Given the description of an element on the screen output the (x, y) to click on. 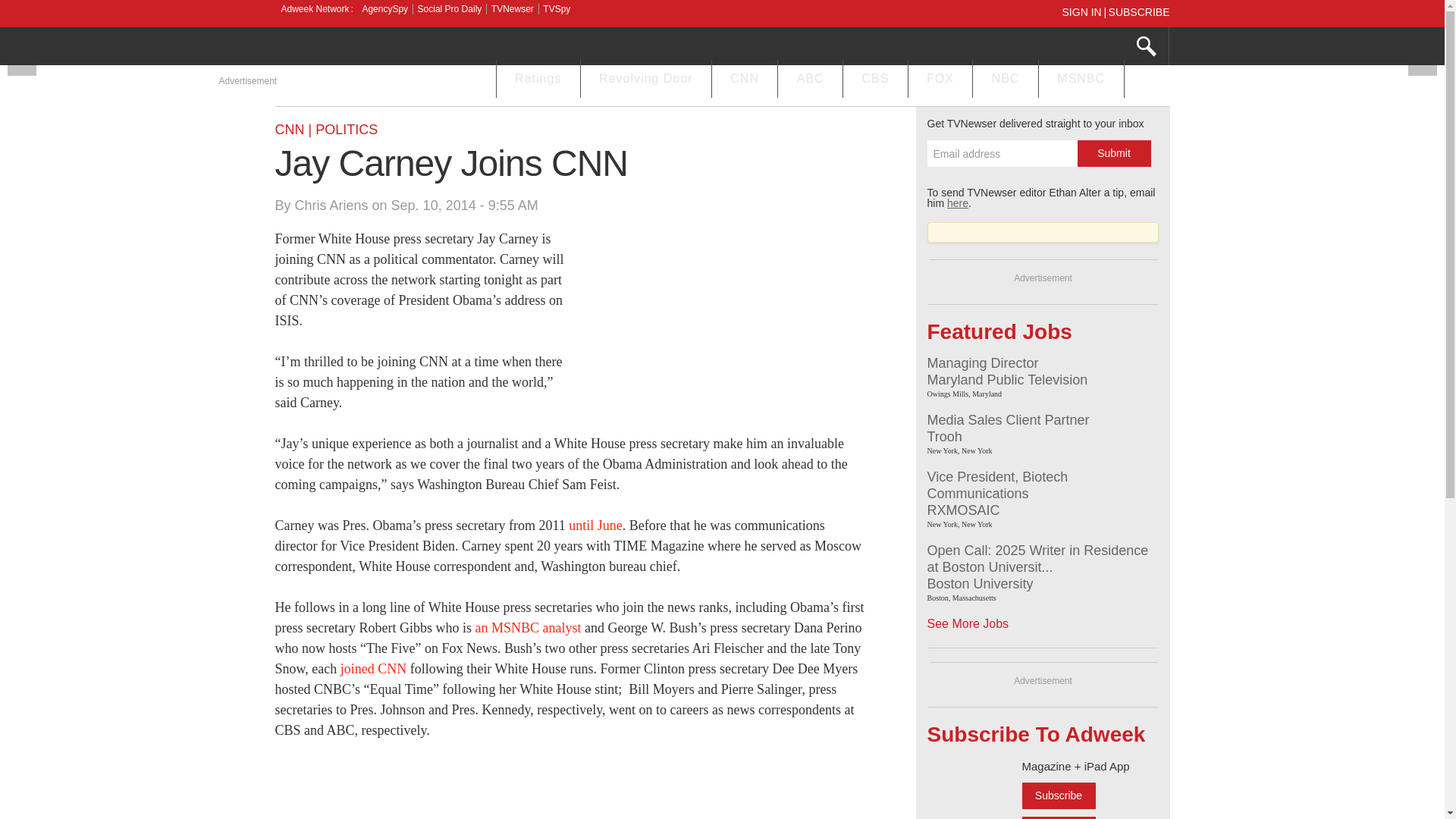
ABC (810, 80)
Social Pro Daily (449, 9)
Submit (1113, 153)
SUBSCRIBE (1139, 11)
FOX (940, 80)
TVNewser (513, 9)
SIGN IN (1084, 11)
Adweek Network (316, 9)
AgencySpy (384, 9)
Ratings (537, 80)
